Given the description of an element on the screen output the (x, y) to click on. 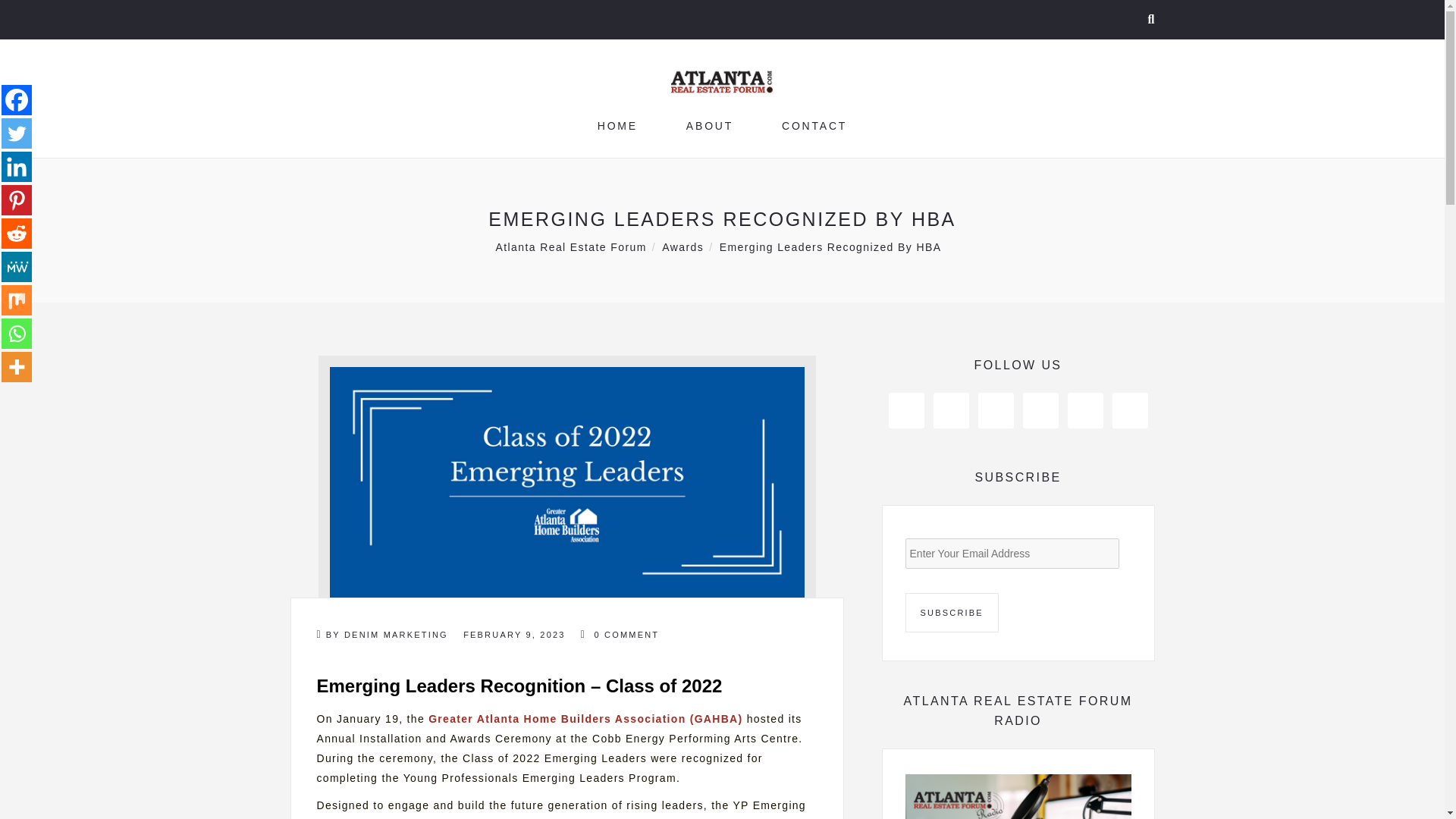
BY DENIM MARKETING (382, 634)
Subscribe (951, 612)
0 COMMENT (619, 634)
Twitter (16, 132)
About (709, 125)
Pinterest (16, 200)
Home (616, 125)
HOME (616, 125)
MeWe (16, 266)
Reddit (16, 233)
